Given the description of an element on the screen output the (x, y) to click on. 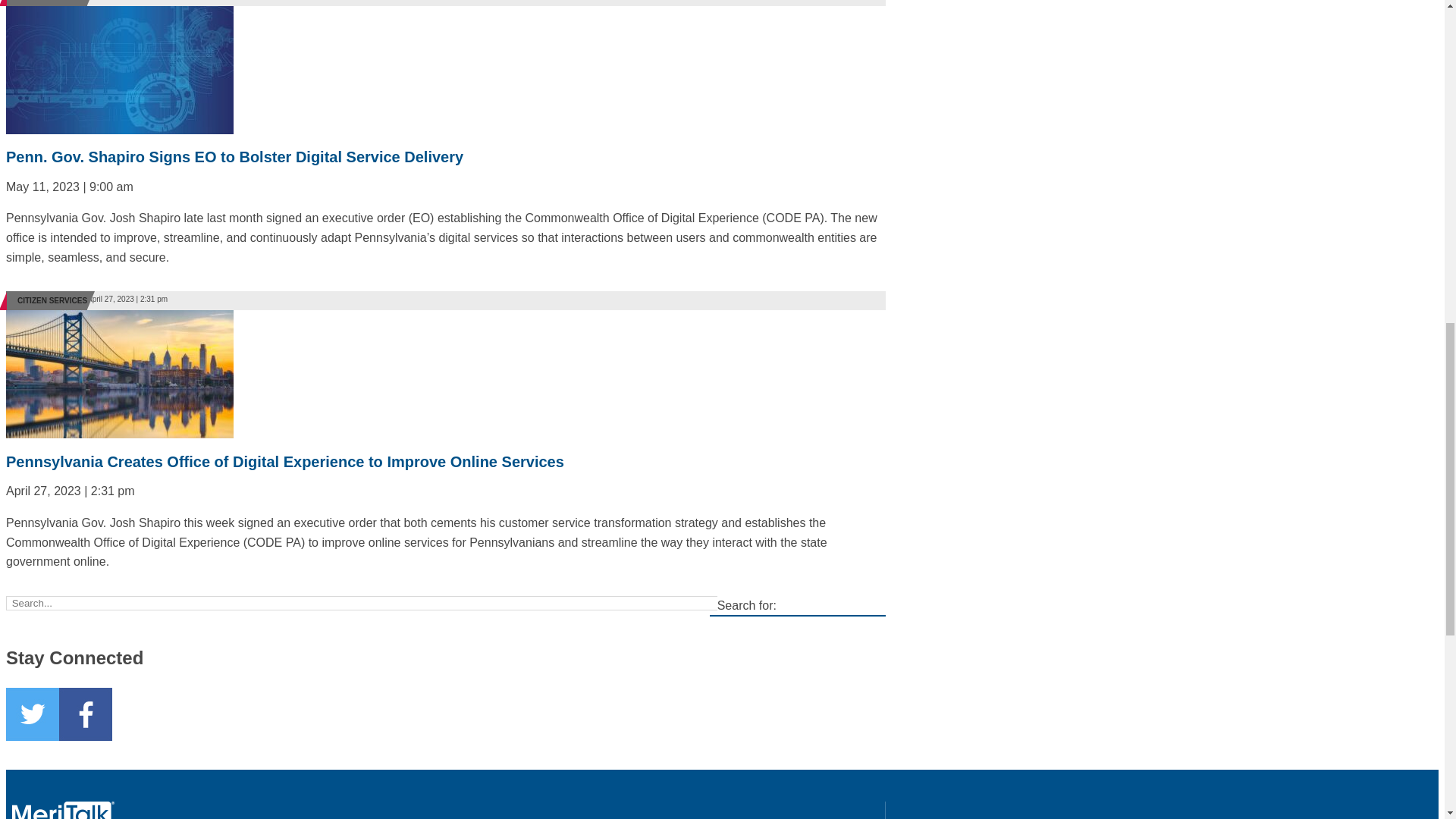
CITIZEN SERVICES (52, 300)
